Given the description of an element on the screen output the (x, y) to click on. 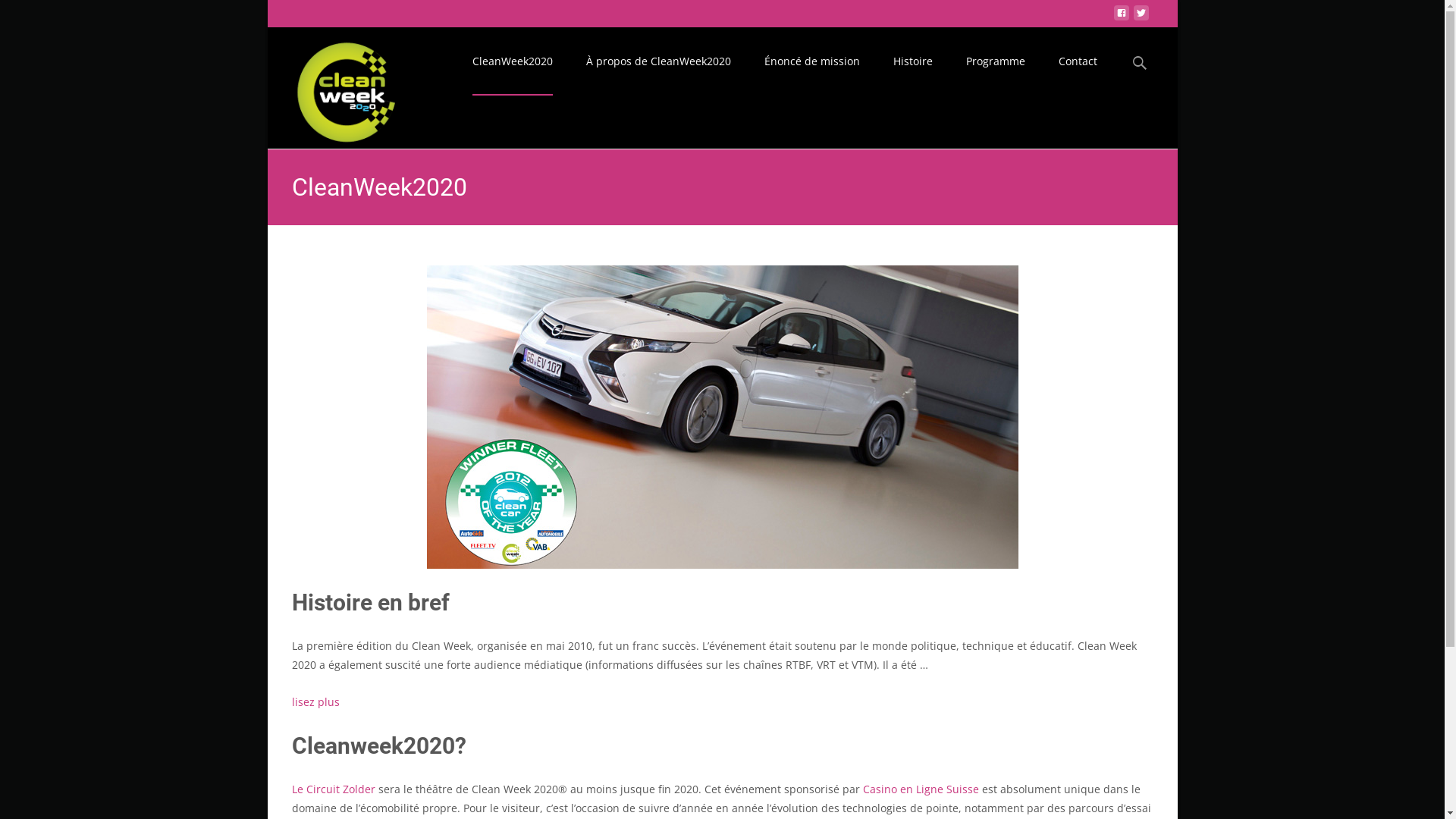
Search Element type: text (18, 15)
CleanWeek2020 Element type: hover (333, 87)
Le Circuit Zolder Element type: text (332, 788)
CleanWeek2020 Element type: text (511, 61)
Programme Element type: text (995, 61)
facebook Element type: hover (1120, 16)
lisez plus Element type: text (314, 701)
Histoire Element type: text (912, 61)
Casino en Ligne Suisse Element type: text (920, 788)
Search for: Element type: hover (1139, 63)
twitter Element type: hover (1140, 16)
Skip to content Element type: text (494, 36)
Contact Element type: text (1077, 61)
